Given the description of an element on the screen output the (x, y) to click on. 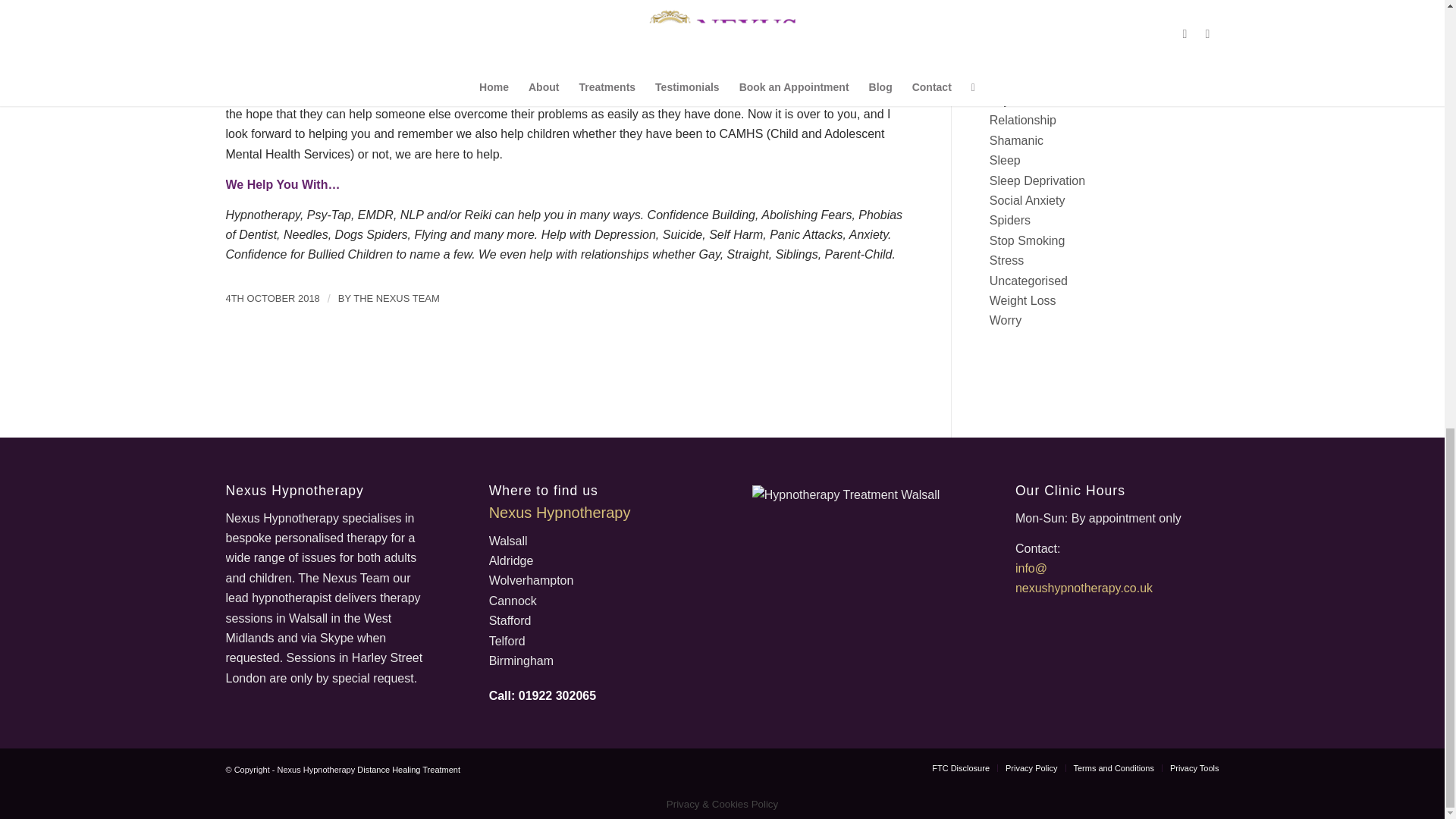
contact page (499, 53)
Posts by The Nexus Team (396, 297)
Click to Edit settings (556, 695)
